Given the description of an element on the screen output the (x, y) to click on. 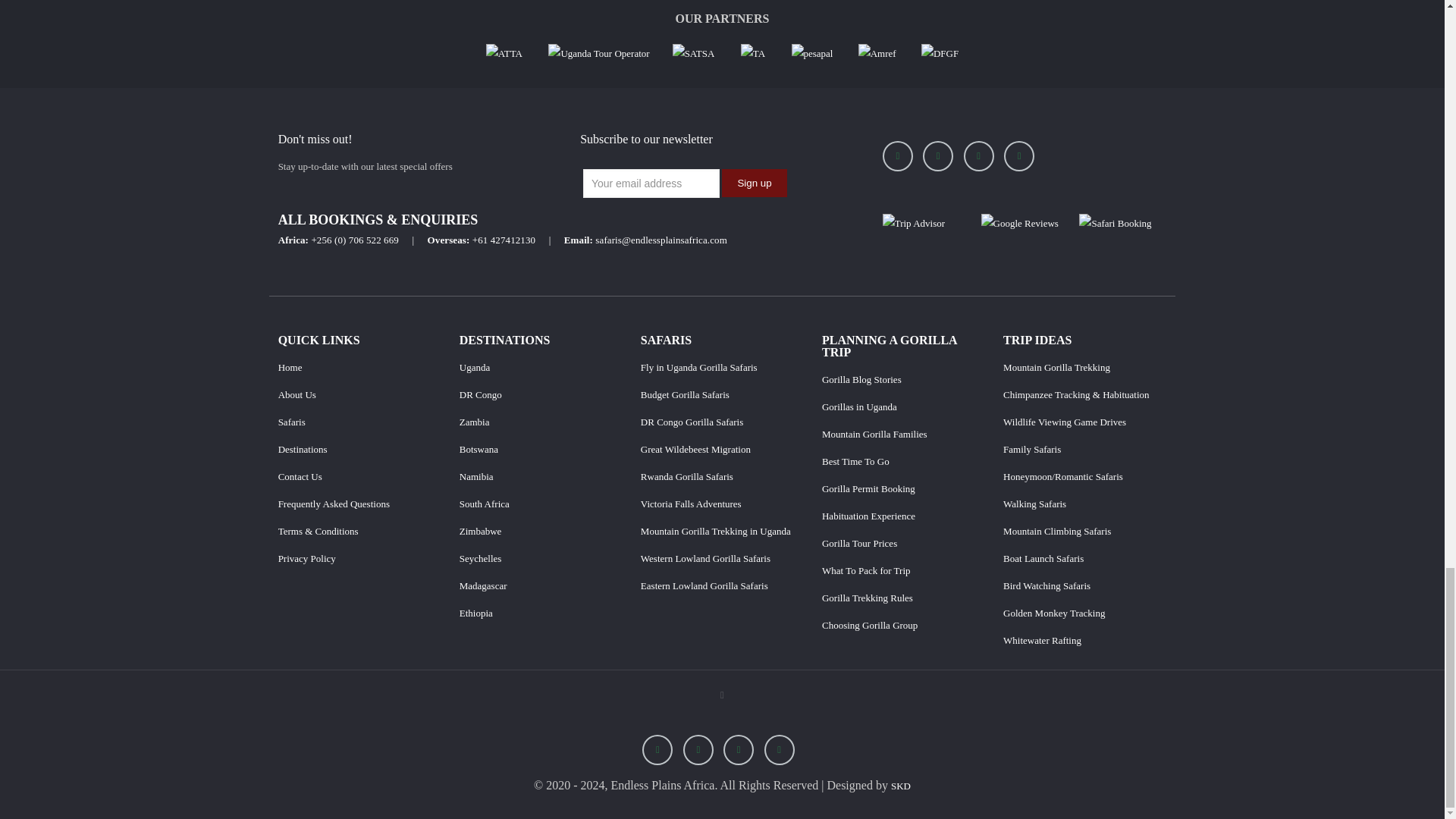
Sign up (754, 182)
Association of Uganda Tour Operators (598, 52)
Trip Advisor (913, 223)
Google Reviews (1019, 223)
Diana Fossey Gorilla Fund (939, 52)
pesapal (813, 52)
Tourism Australia (753, 52)
AMREF (878, 52)
Southern Africa Tourism Services Association (693, 52)
